Given the description of an element on the screen output the (x, y) to click on. 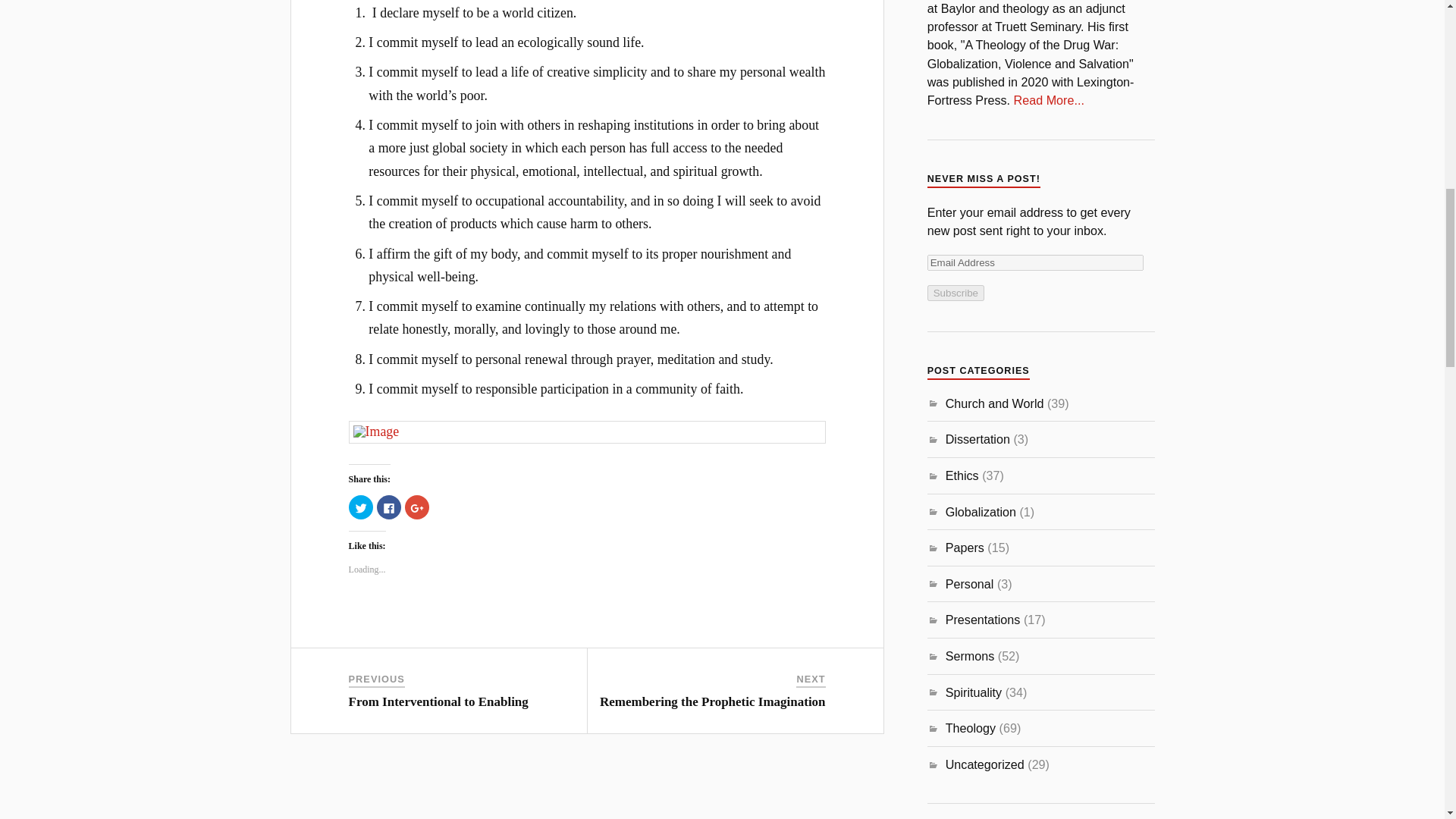
Remembering the Prophetic Imagination (712, 701)
Click to share on Facebook (389, 507)
Subscribe (955, 293)
Click to share on Twitter (360, 507)
Read More... (1048, 100)
From Interventional to Enabling (438, 701)
Next post: Remembering the Prophetic Imagination (712, 701)
Previous post: From Interventional to Enabling (438, 701)
